Given the description of an element on the screen output the (x, y) to click on. 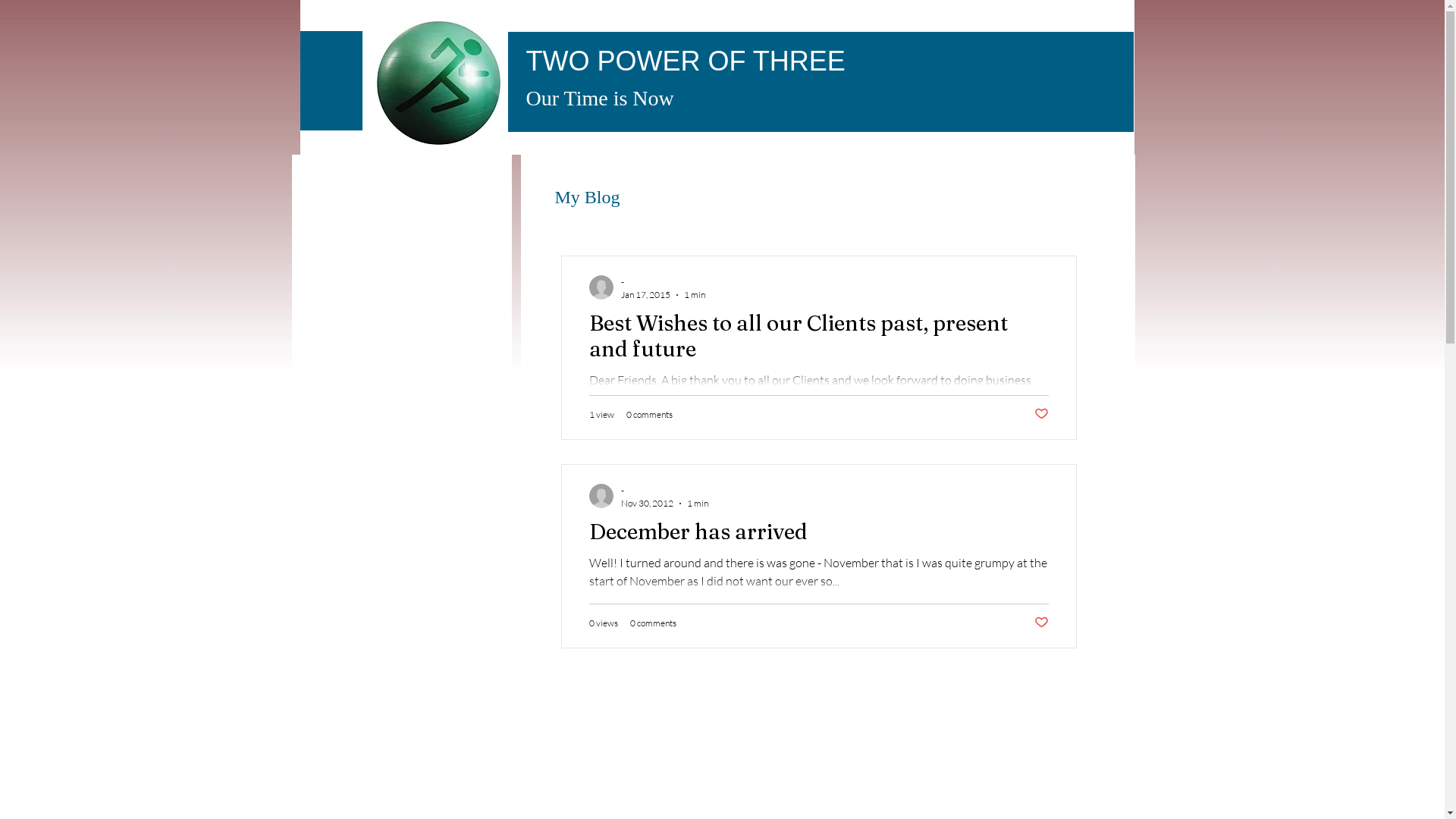
Post not marked as liked Element type: text (1041, 622)
December has arrived Element type: text (818, 535)
Best Wishes to all our Clients past, present and future Element type: text (818, 339)
0 comments Element type: text (649, 414)
Post not marked as liked Element type: text (1041, 414)
0 comments Element type: text (652, 622)
